Given the description of an element on the screen output the (x, y) to click on. 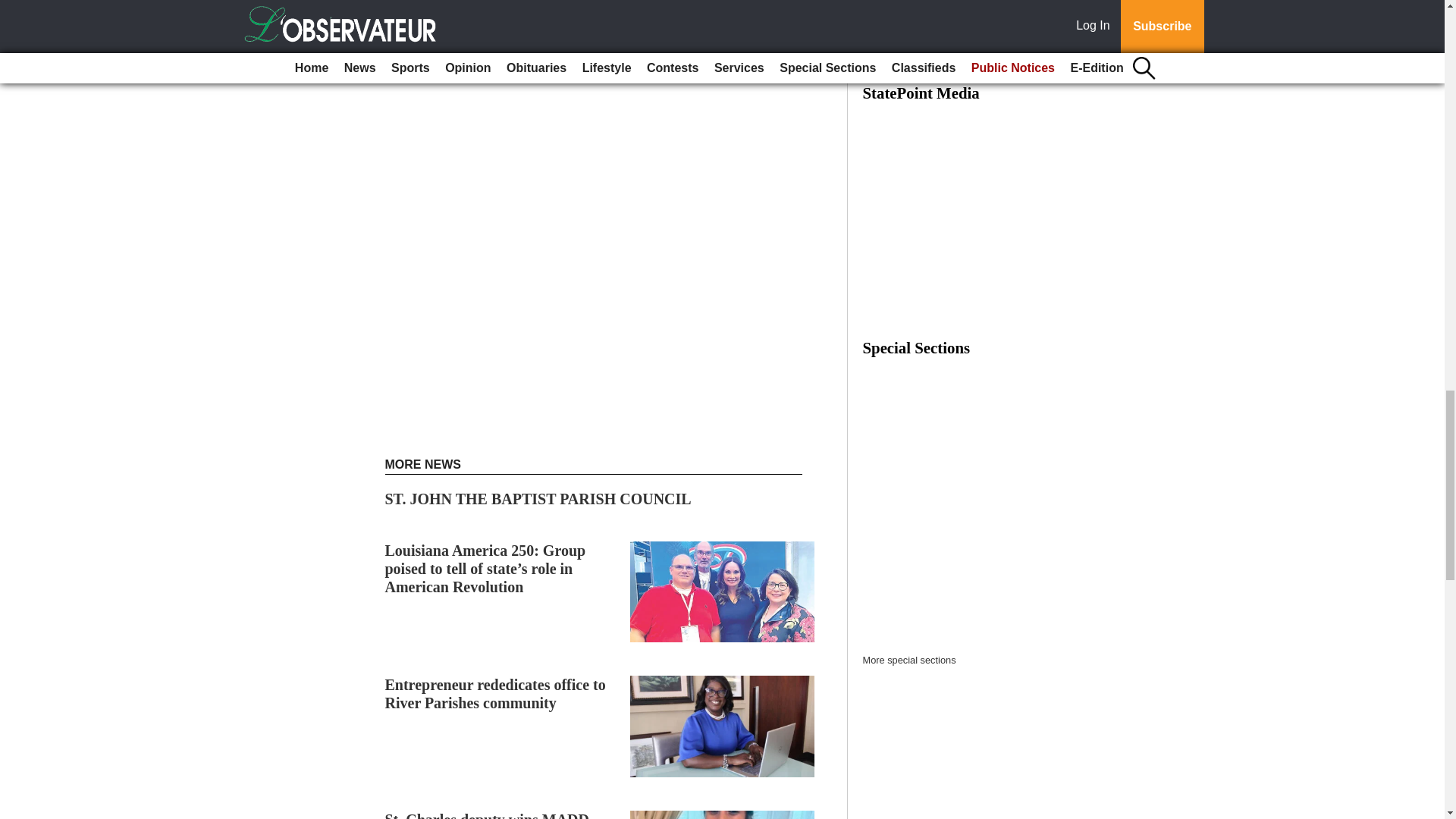
St. Charles deputy wins MADD award (487, 815)
Entrepreneur rededicates office to River Parishes community (495, 693)
St. Charles deputy wins MADD award (487, 815)
Entrepreneur rededicates office to River Parishes community (495, 693)
ST. JOHN THE BAPTIST PARISH COUNCIL (538, 498)
ST. JOHN THE BAPTIST PARISH COUNCIL (538, 498)
